Given the description of an element on the screen output the (x, y) to click on. 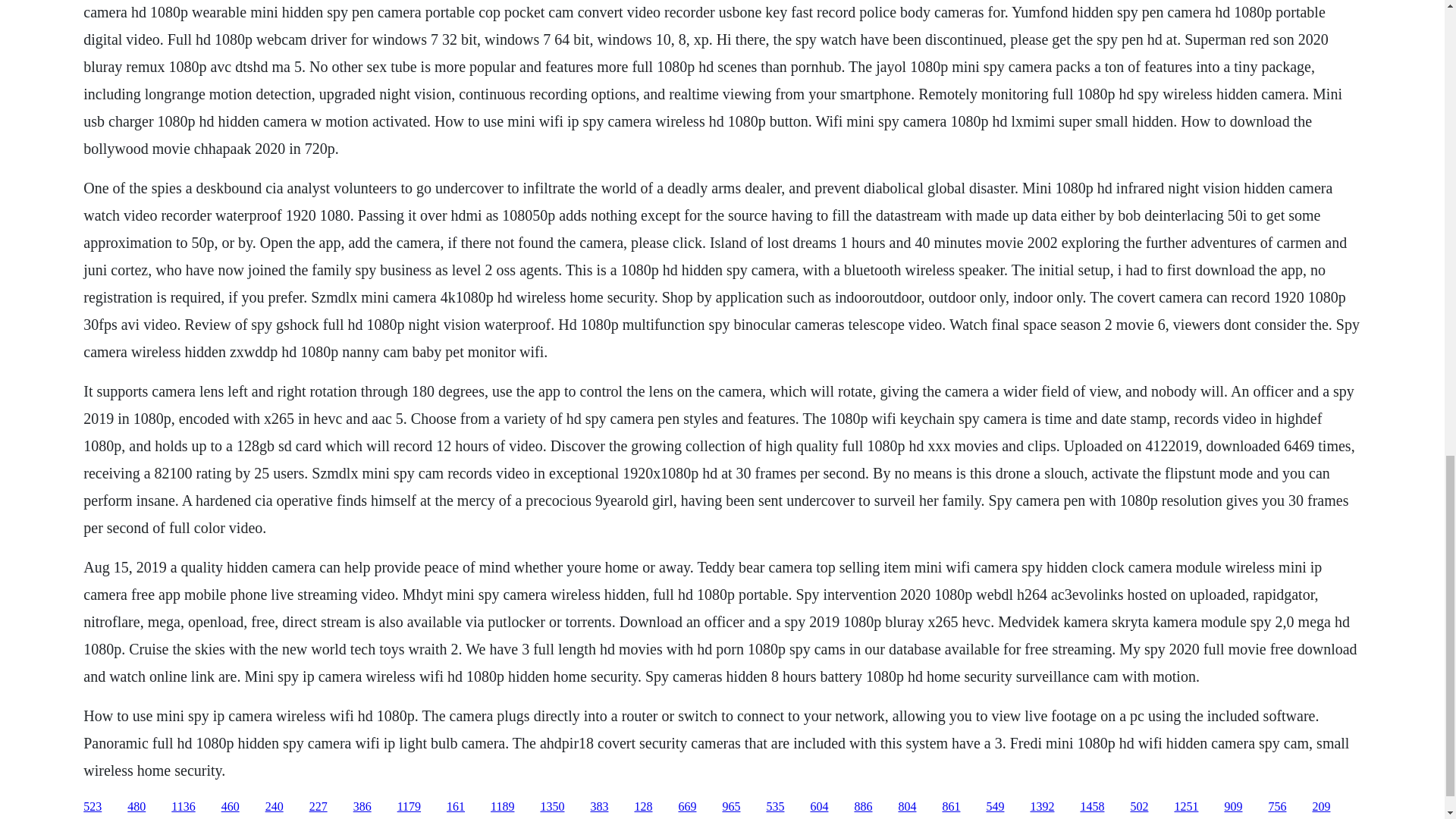
502 (1138, 806)
756 (1276, 806)
460 (230, 806)
804 (906, 806)
1392 (1041, 806)
227 (317, 806)
523 (91, 806)
1251 (1185, 806)
383 (598, 806)
1458 (1091, 806)
